Given the description of an element on the screen output the (x, y) to click on. 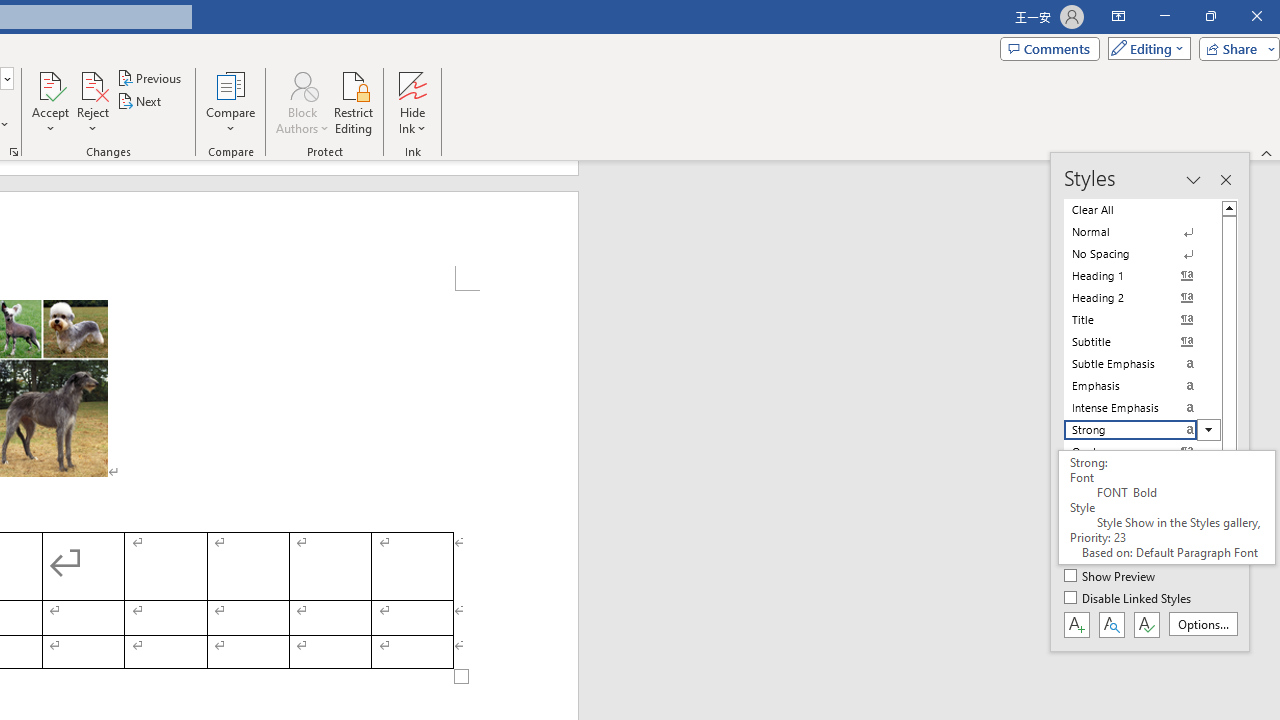
Strong (1142, 429)
Show Preview (1110, 577)
Subtle Reference (1142, 495)
Normal (1142, 232)
Subtitle (1142, 341)
Class: NetUIButton (1146, 624)
List Paragraph (1142, 561)
Disable Linked Styles (1129, 599)
Clear All (1142, 209)
